Given the description of an element on the screen output the (x, y) to click on. 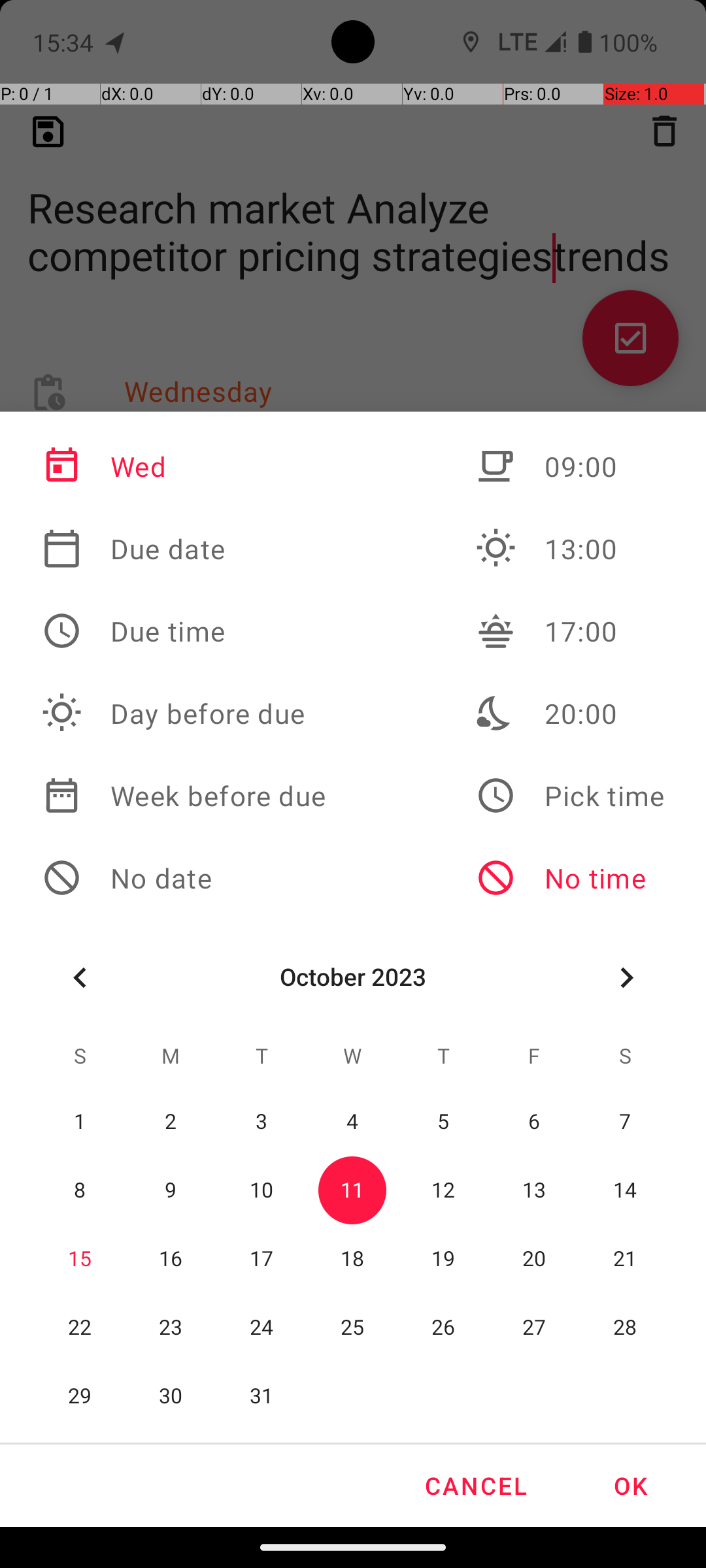
Due time Element type: android.widget.CompoundButton (183, 630)
Day before due Element type: android.widget.CompoundButton (183, 713)
Week before due Element type: android.widget.CompoundButton (183, 795)
